Given the description of an element on the screen output the (x, y) to click on. 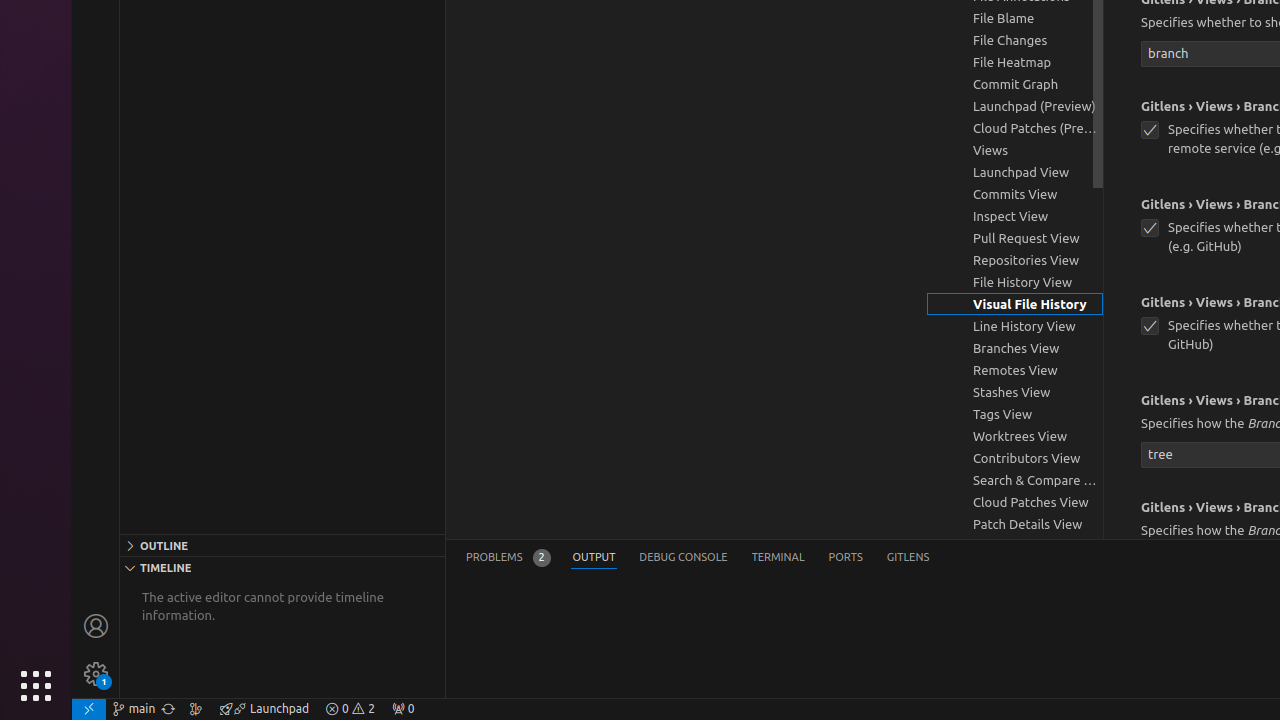
Repositories View, group Element type: tree-item (1015, 260)
Active View Switcher Element type: page-tab-list (698, 557)
gitlens.views.branches.pullRequests.showForBranches Element type: check-box (1150, 228)
Manage - New Code update available. Element type: push-button (96, 674)
Tags View, group Element type: tree-item (1015, 414)
